Given the description of an element on the screen output the (x, y) to click on. 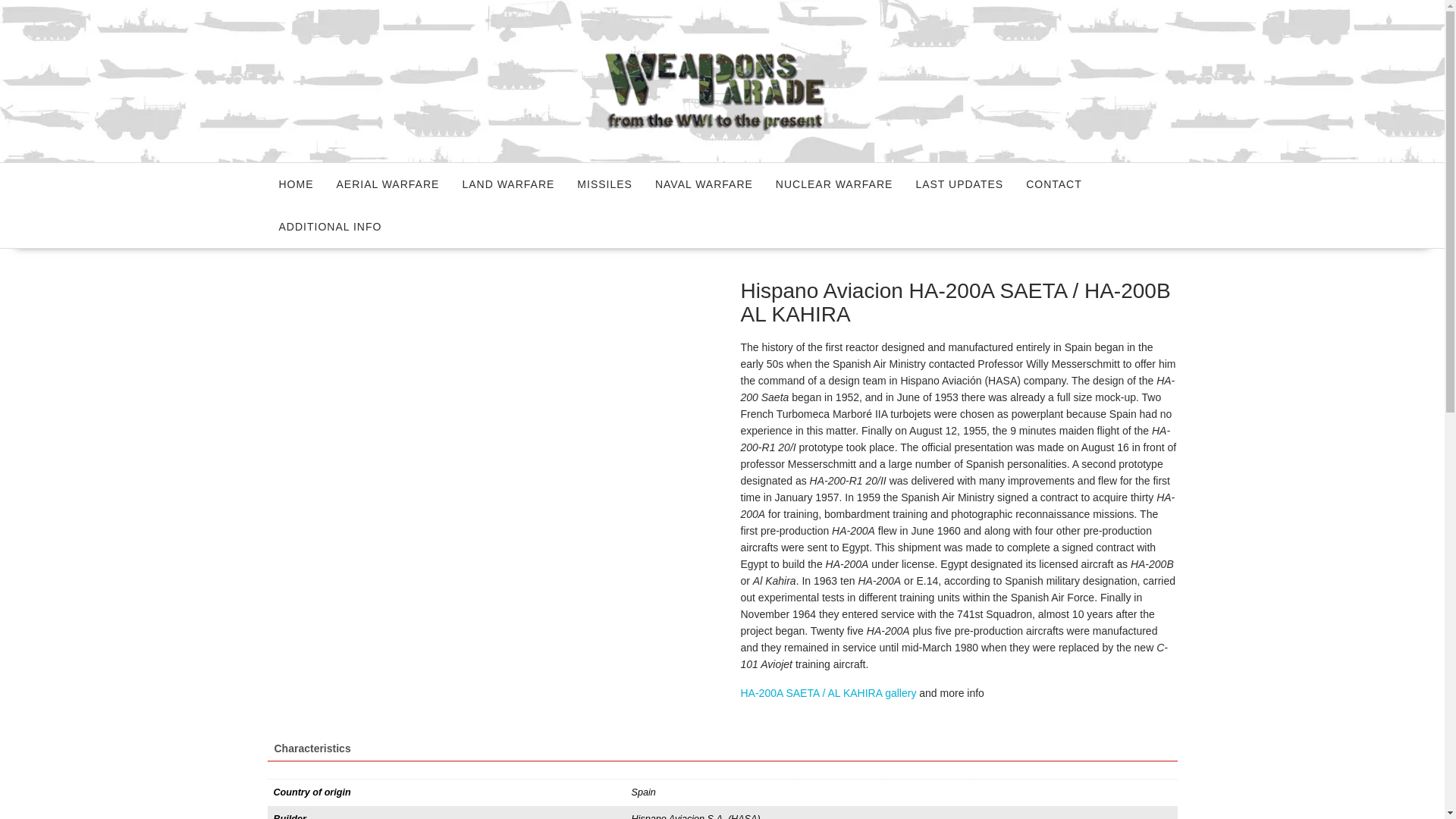
LAND WARFARE (507, 183)
AERIAL WARFARE (386, 183)
HOME (295, 183)
